Given the description of an element on the screen output the (x, y) to click on. 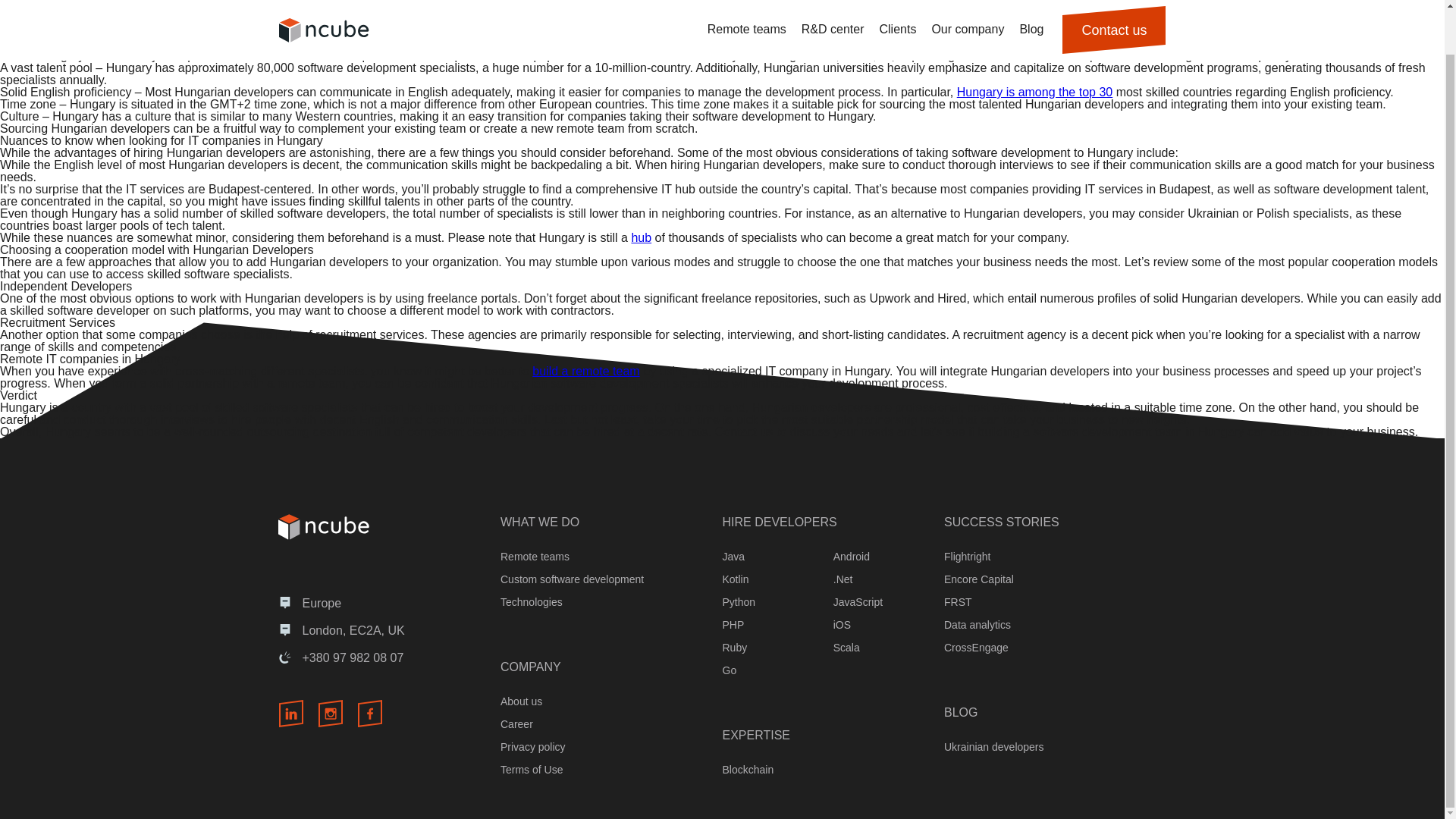
About us (520, 701)
Scala (846, 647)
EXPERTISE (756, 735)
Remote teams (534, 556)
Hungary is among the top 30 (1034, 91)
Python (738, 602)
Privacy policy (533, 746)
hub (640, 237)
Go (729, 670)
Career (516, 724)
Encore Capital (978, 579)
build a remote team (585, 370)
.Net (842, 579)
JavaScript (857, 602)
Android (850, 556)
